Given the description of an element on the screen output the (x, y) to click on. 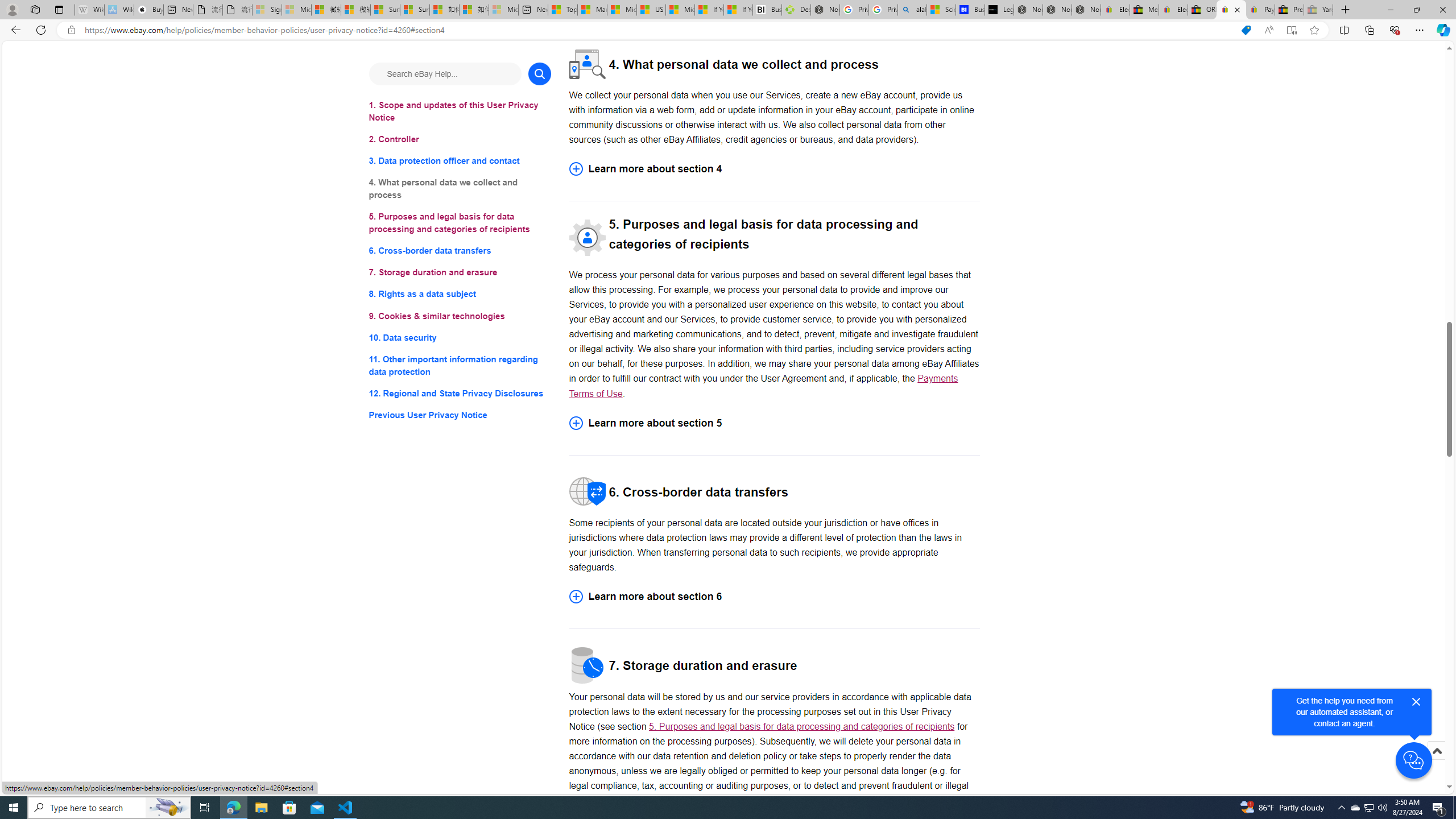
US Heat Deaths Soared To Record High Last Year (651, 9)
Nordace - My Account (825, 9)
Microsoft Services Agreement - Sleeping (295, 9)
Yard, Garden & Outdoor Living - Sleeping (1318, 9)
Address and search bar (658, 29)
Learn more about section 5 (774, 422)
This site has coupons! Shopping in Microsoft Edge (1245, 29)
